Given the description of an element on the screen output the (x, y) to click on. 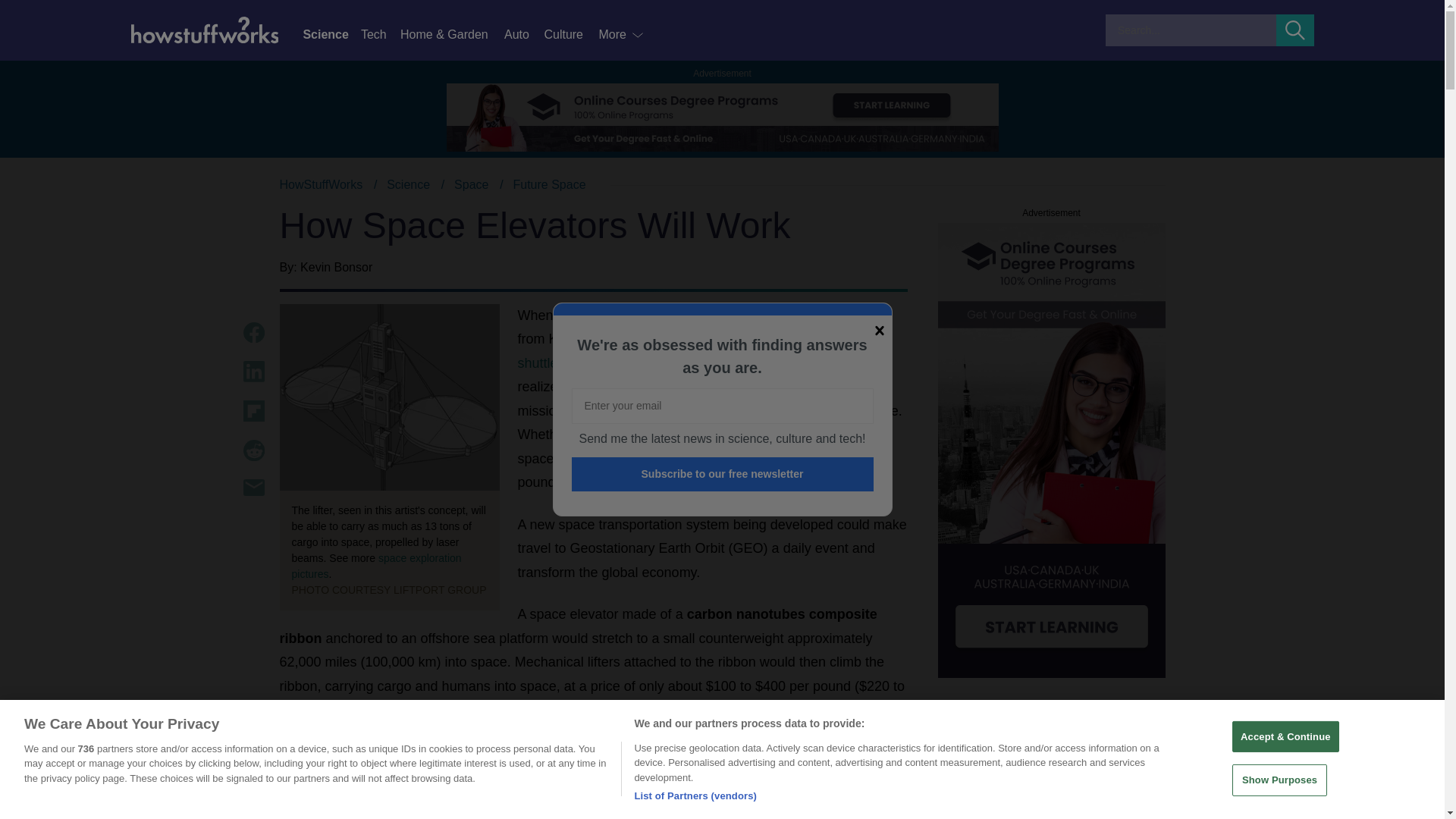
Science (330, 34)
Share Content on LinkedIn (253, 371)
Subscribe to our free newsletter (722, 474)
Share Content via Email (253, 487)
Space (470, 184)
Share Content on Flipboard (253, 410)
More (621, 34)
Share Content on Facebook (253, 332)
Science (408, 184)
Culture (570, 34)
Share Content on Reddit (253, 450)
Tech (380, 34)
HowStuffWorks (320, 184)
Auto (523, 34)
